Given the description of an element on the screen output the (x, y) to click on. 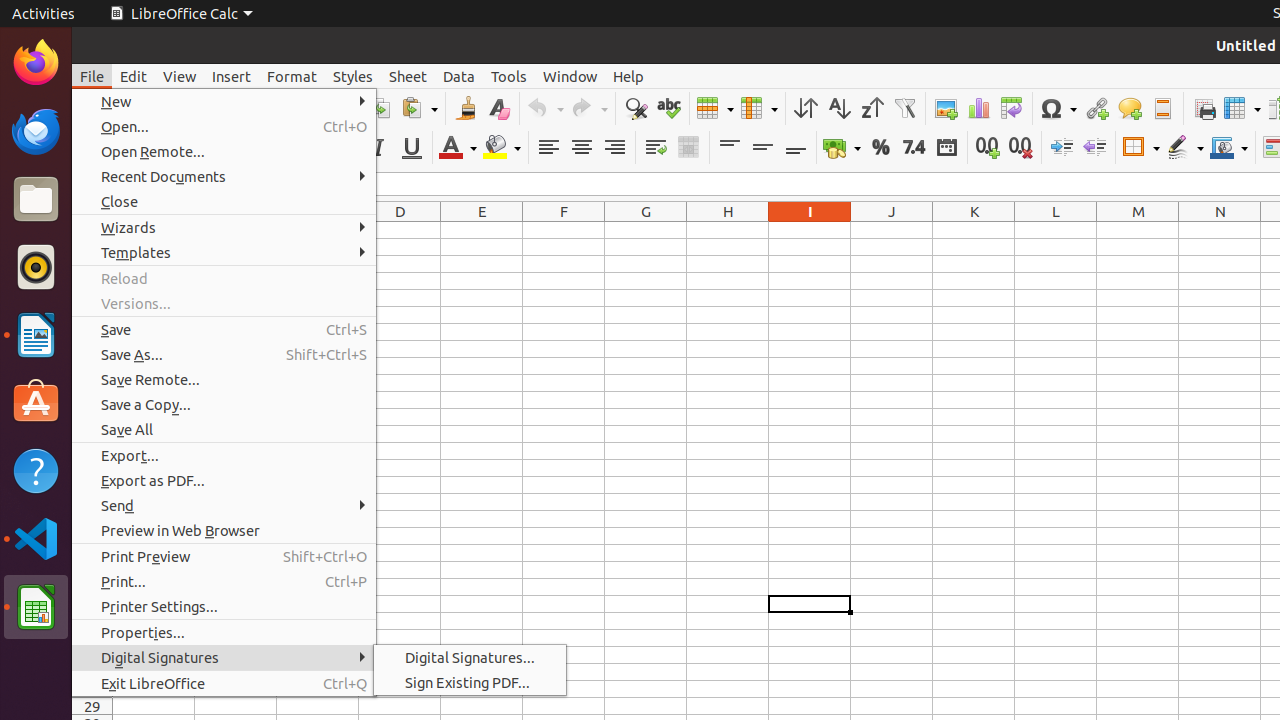
Properties... Element type: menu-item (224, 632)
Preview in Web Browser Element type: menu-item (224, 530)
Number Element type: push-button (913, 147)
Undo Element type: push-button (545, 108)
Sign Existing PDF... Element type: menu-item (470, 682)
